Given the description of an element on the screen output the (x, y) to click on. 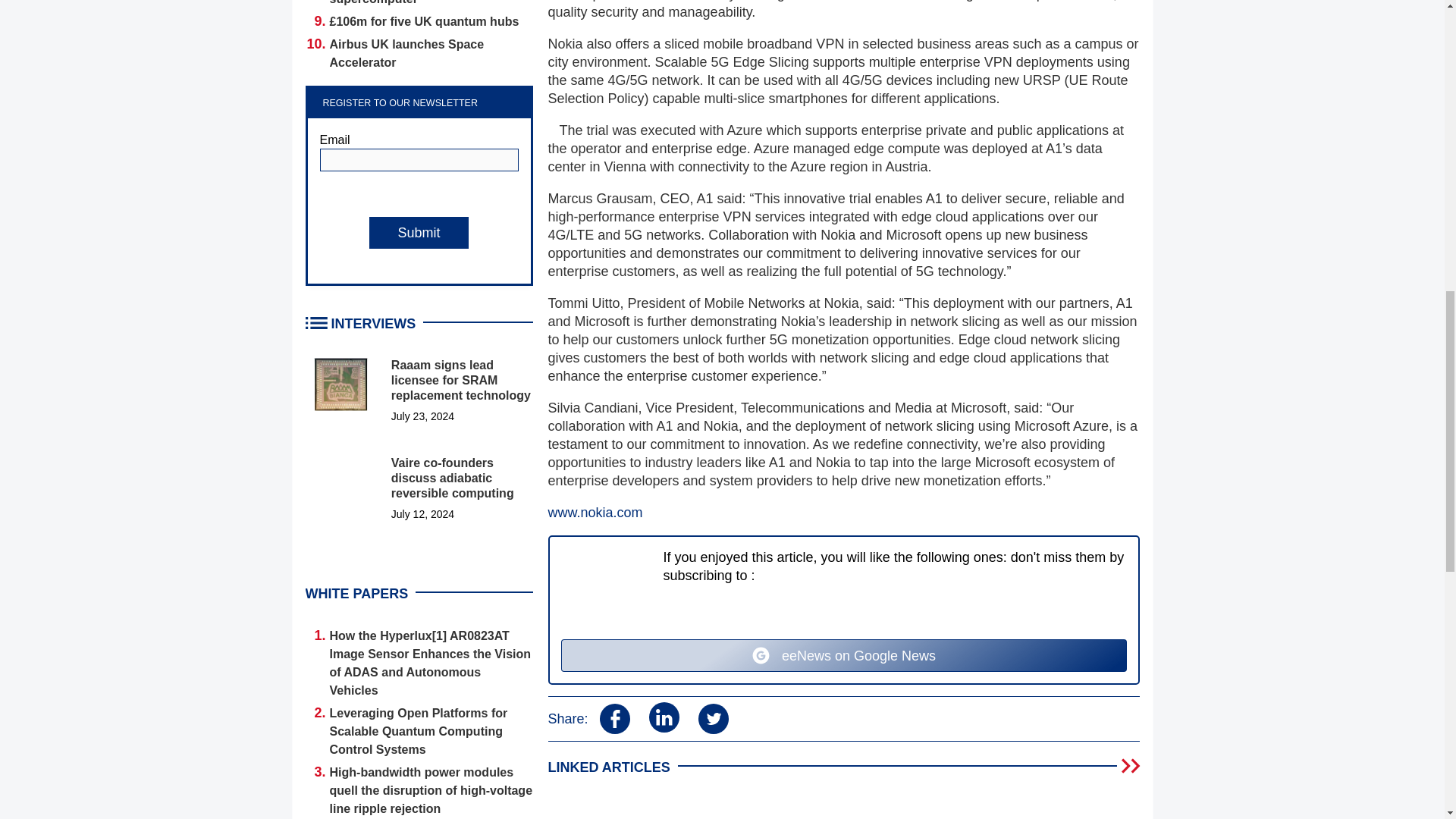
Submit (418, 232)
